Given the description of an element on the screen output the (x, y) to click on. 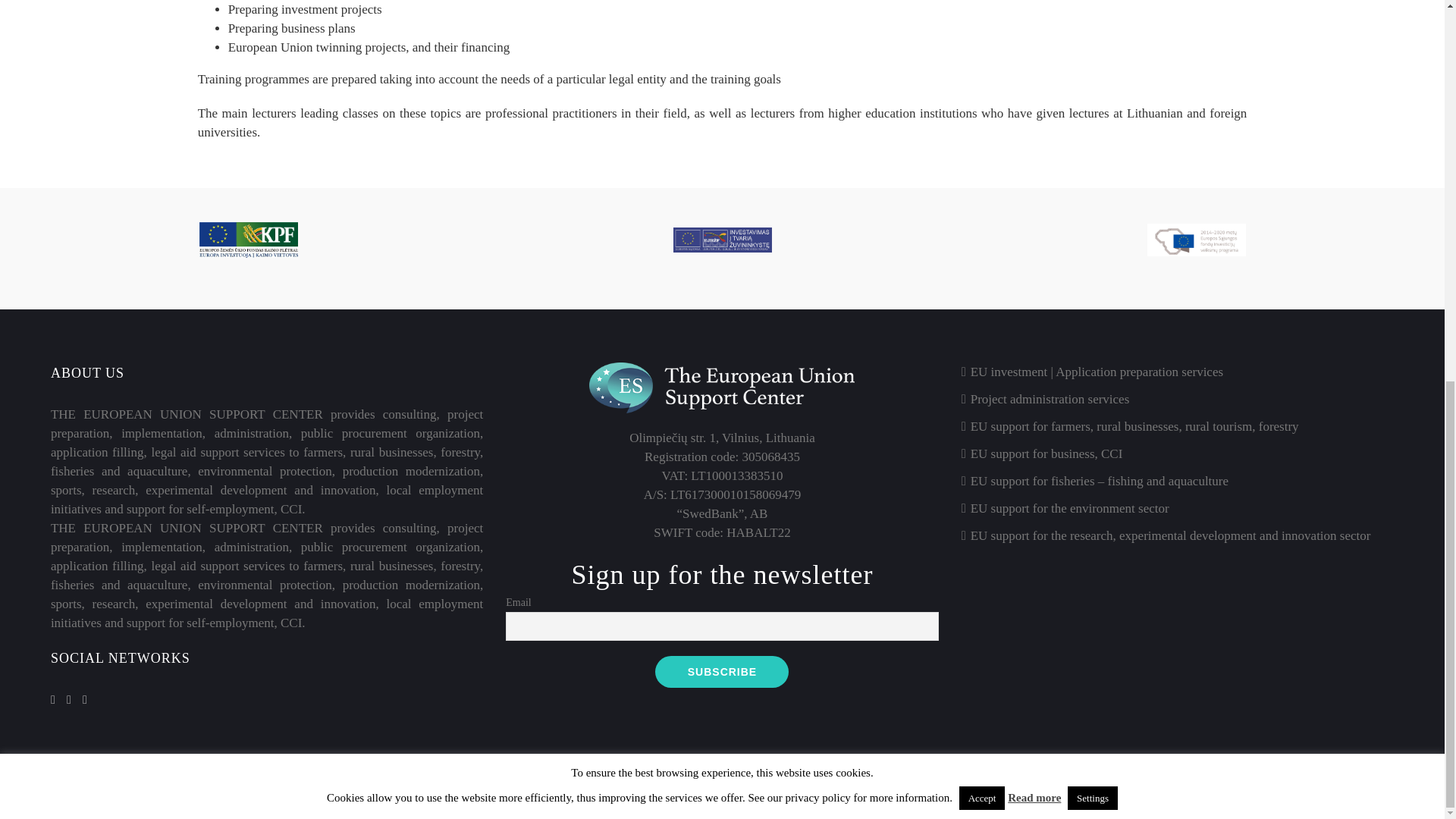
Subscribe (722, 671)
